Given the description of an element on the screen output the (x, y) to click on. 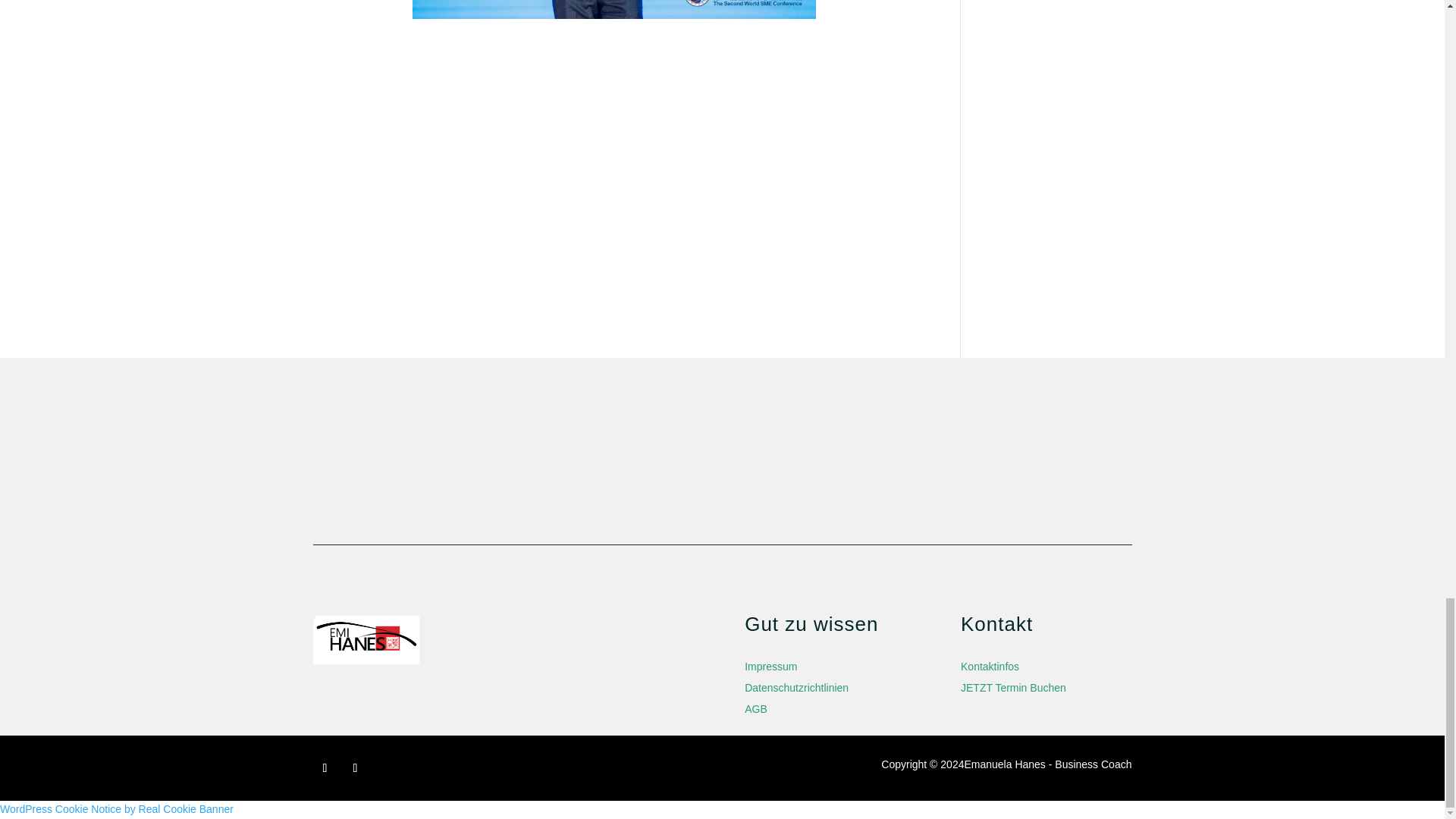
Kontaktinfos (989, 666)
Datenschutzrichtlinien (796, 687)
WordPress Cookie Notice by Real Cookie Banner (116, 808)
China Trends 2022 Ivo Ganchev Emi Hanes (614, 9)
JETZT Termin Buchen (1012, 687)
Follow on LinkedIn (354, 767)
Follow on Facebook (324, 767)
AGB (755, 708)
Impressum (770, 666)
